Given the description of an element on the screen output the (x, y) to click on. 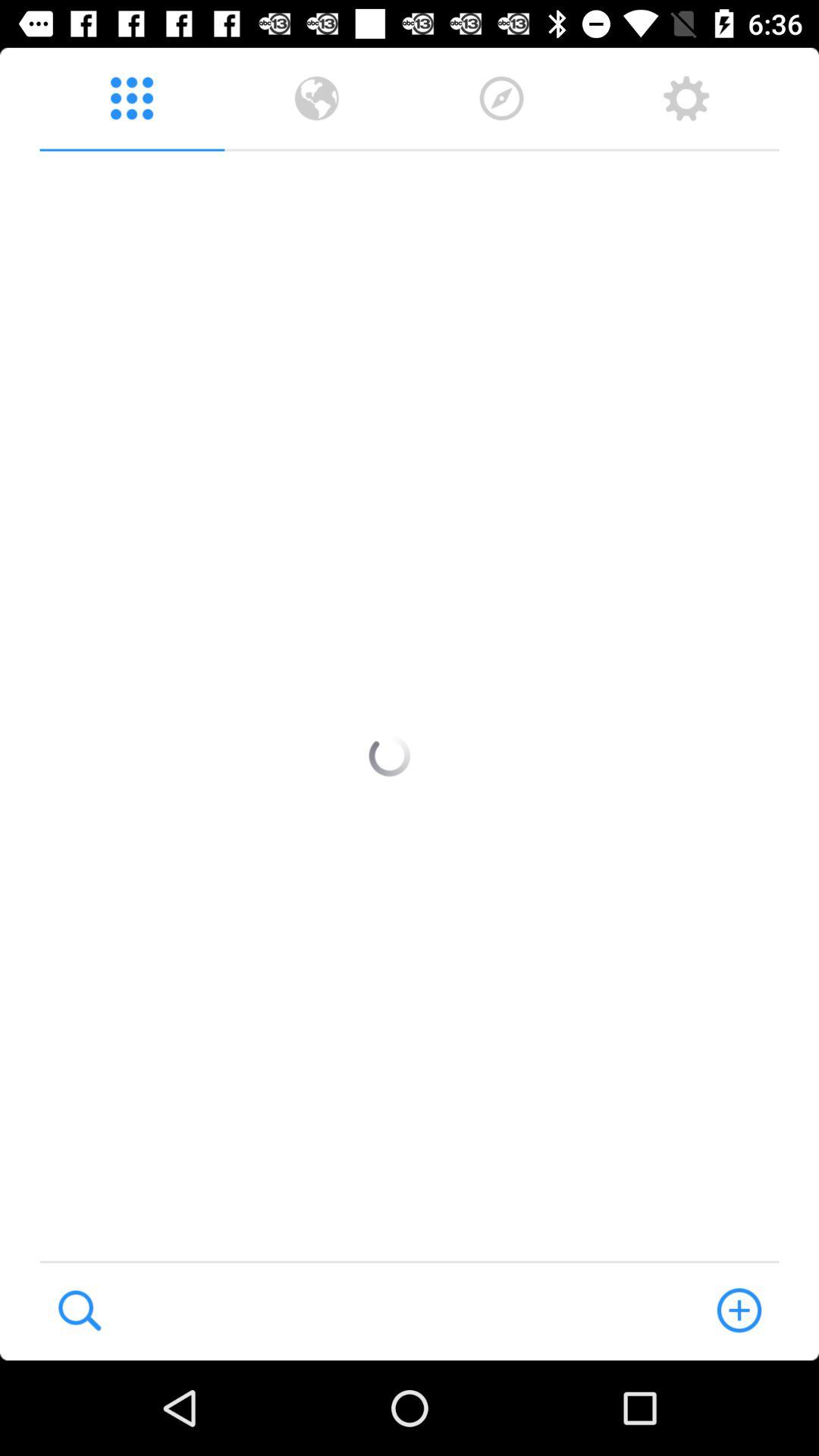
turn off the icon at the bottom right corner (739, 1310)
